Given the description of an element on the screen output the (x, y) to click on. 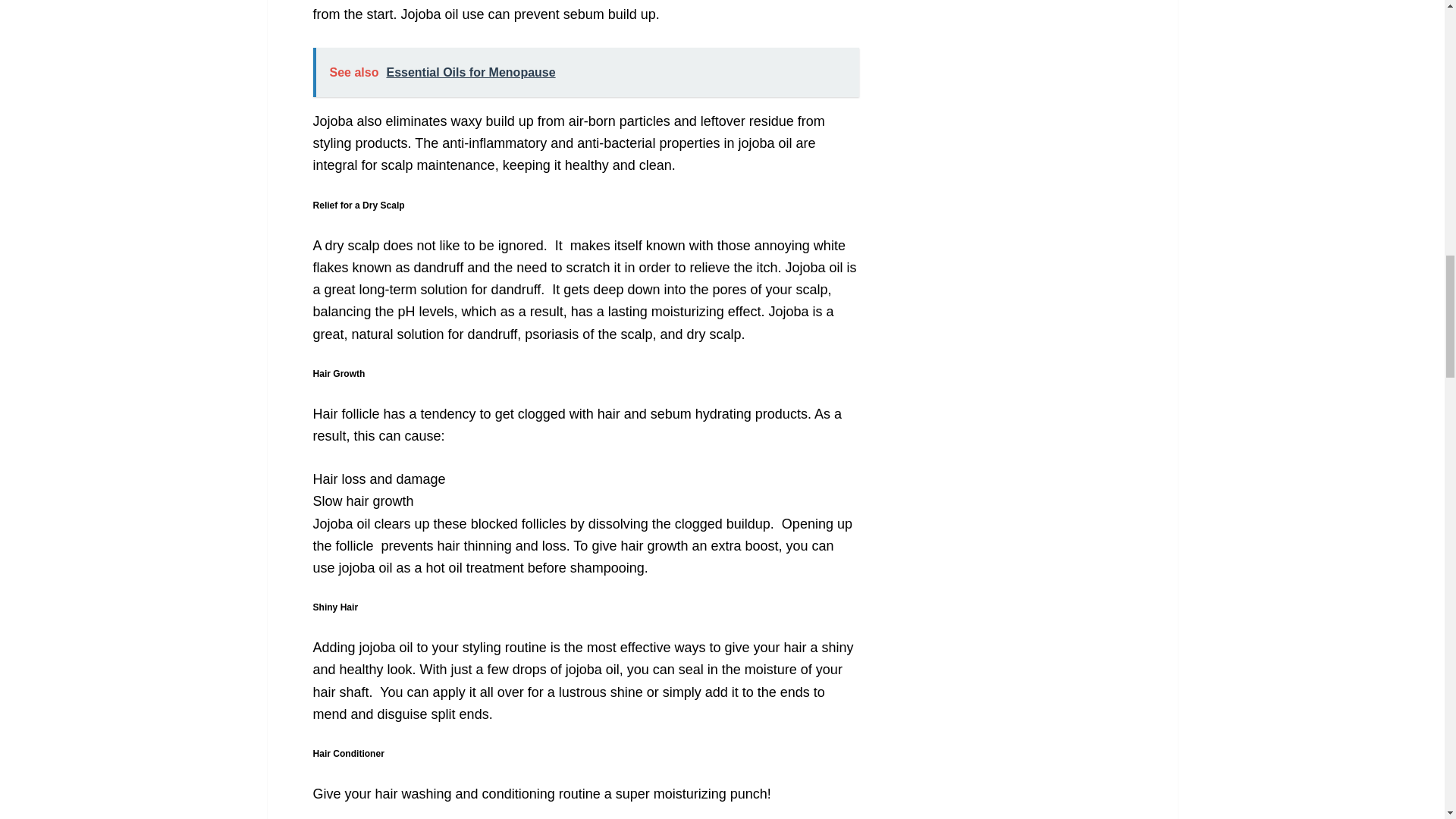
See also  Essential Oils for Menopause (586, 72)
